Given the description of an element on the screen output the (x, y) to click on. 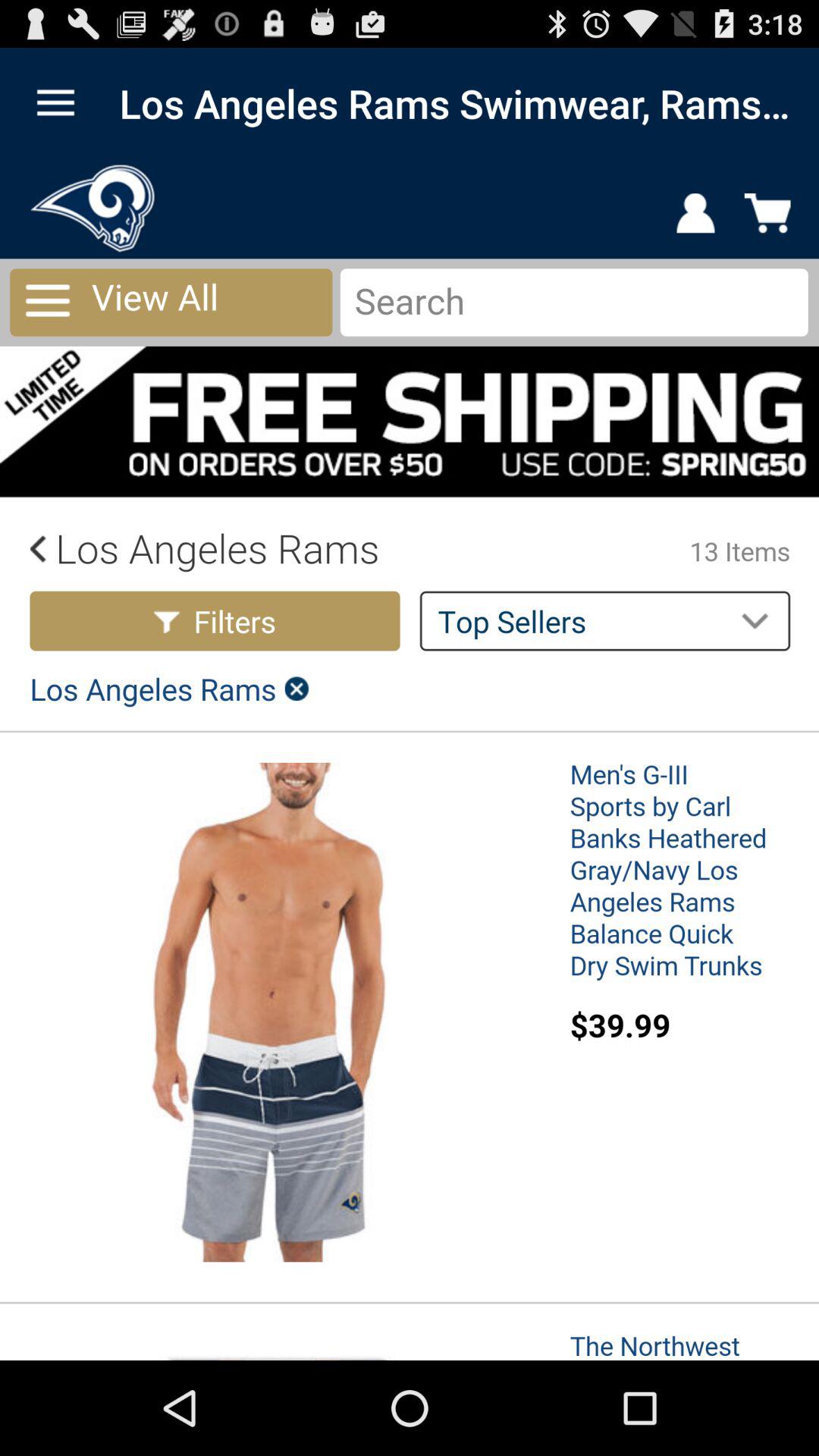
advertisement option (409, 759)
